Given the description of an element on the screen output the (x, y) to click on. 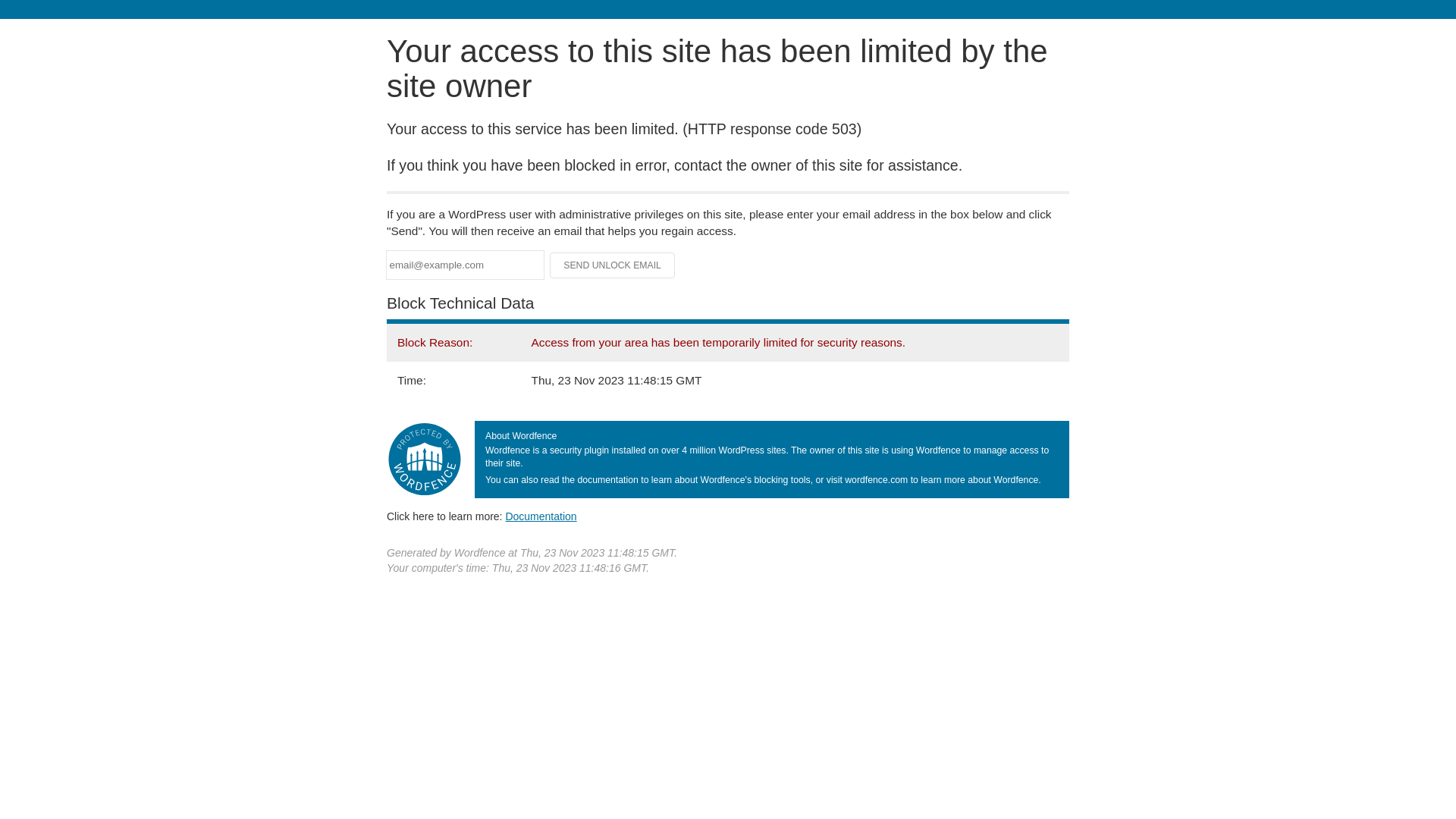
Documentation Element type: text (540, 516)
Send Unlock Email Element type: text (612, 265)
